Given the description of an element on the screen output the (x, y) to click on. 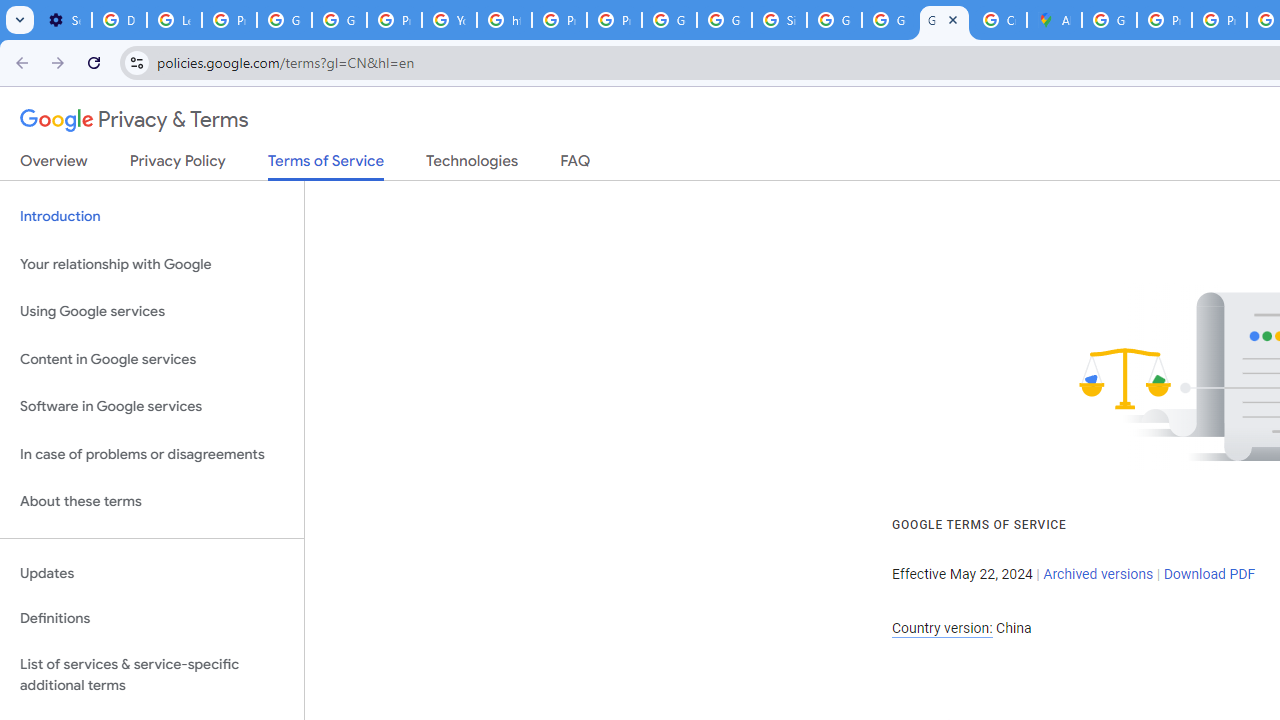
Software in Google services (152, 407)
Country version: (942, 628)
About these terms (152, 502)
Settings - On startup (64, 20)
